Given the description of an element on the screen output the (x, y) to click on. 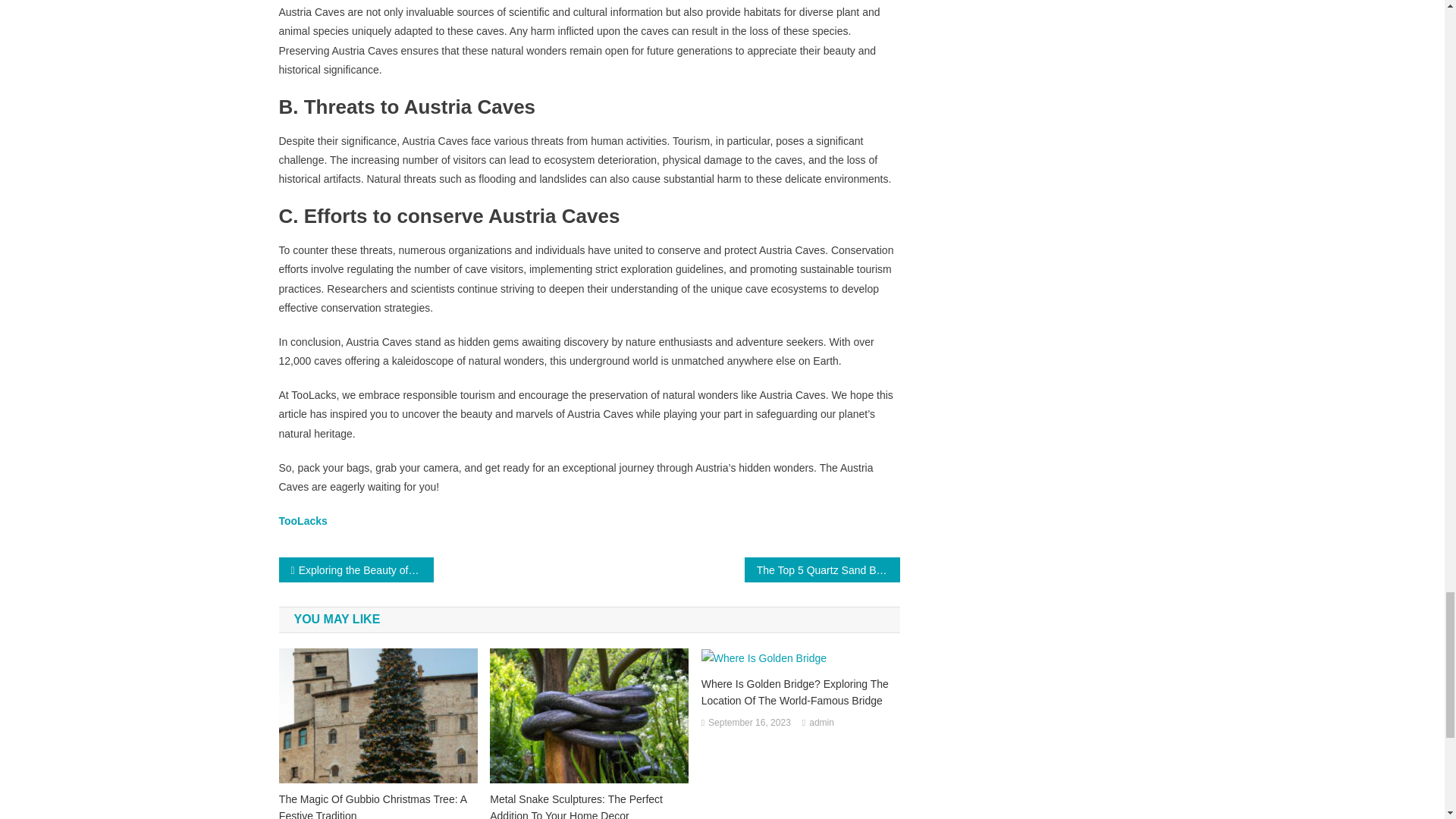
September 16, 2023 (748, 723)
TooLacks (303, 521)
Exploring the Beauty of Croatia in Spring (356, 569)
The Top 5 Quartz Sand Beaches in the World (821, 569)
admin (821, 723)
The Magic Of Gubbio Christmas Tree: A Festive Tradition (378, 805)
